Given the description of an element on the screen output the (x, y) to click on. 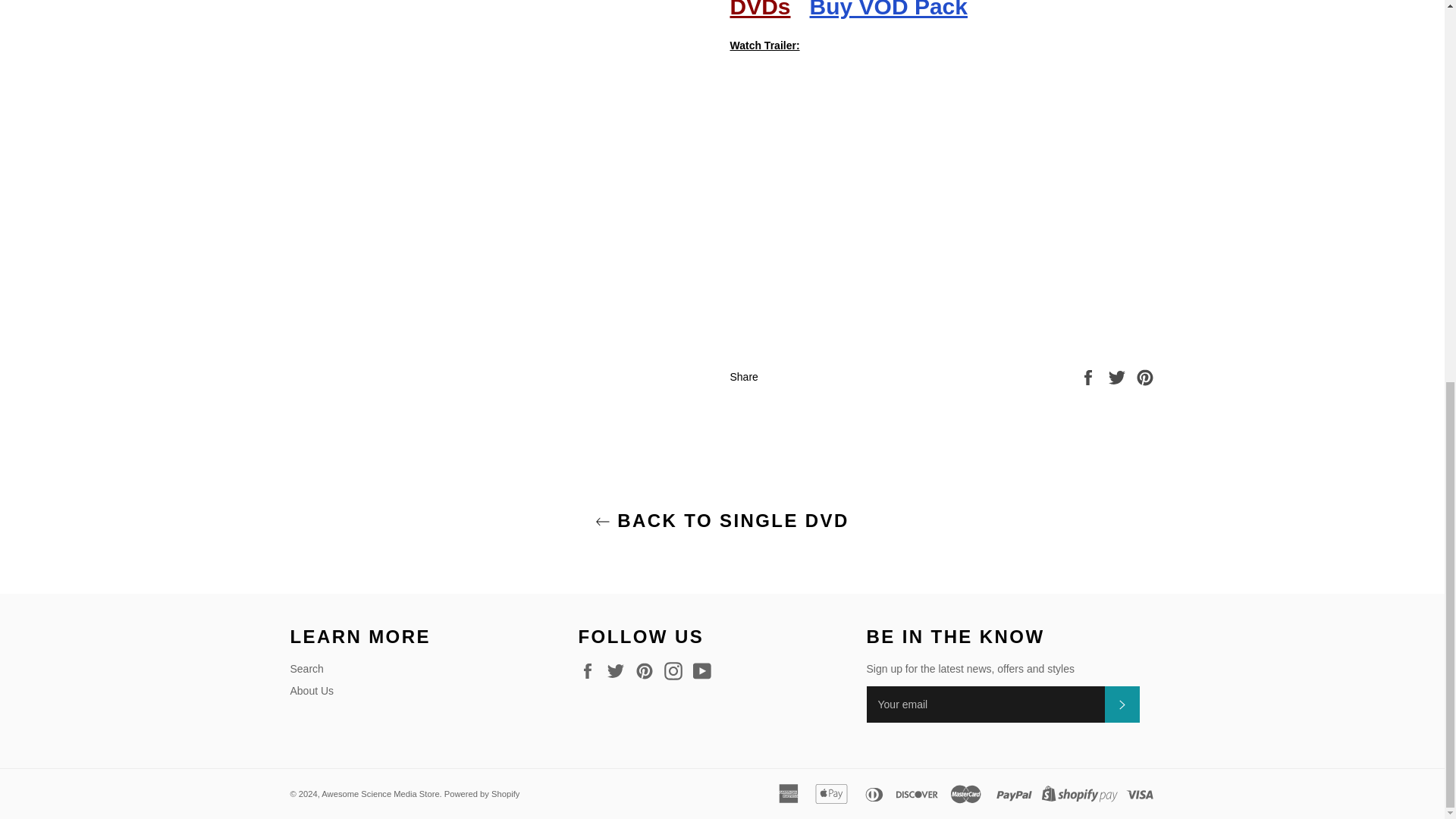
Awesome Science Media Store on Instagram (676, 670)
Awesome Science Media Store on Twitter (619, 670)
Share on Facebook (1089, 376)
Flood Geology 1-4 VOD (888, 9)
Pin on Pinterest (1144, 376)
Awesome Science Media Store on YouTube (706, 670)
Flood Geology DVD Set (925, 9)
Awesome Science Media Store on Facebook (591, 670)
Awesome Science Media Store on Pinterest (647, 670)
Tweet on Twitter (1118, 376)
